Given the description of an element on the screen output the (x, y) to click on. 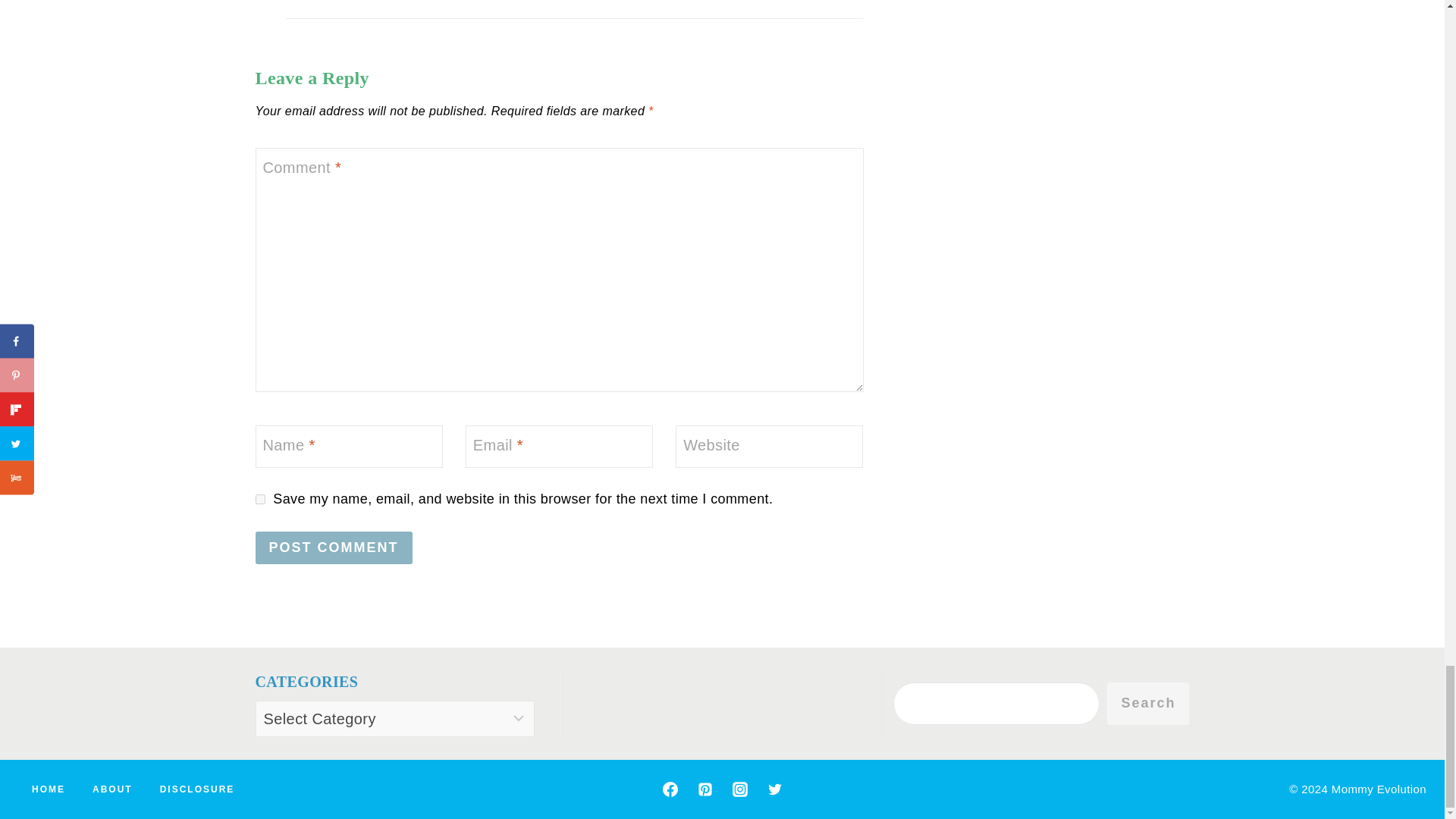
Post Comment (333, 547)
yes (259, 499)
